Given the description of an element on the screen output the (x, y) to click on. 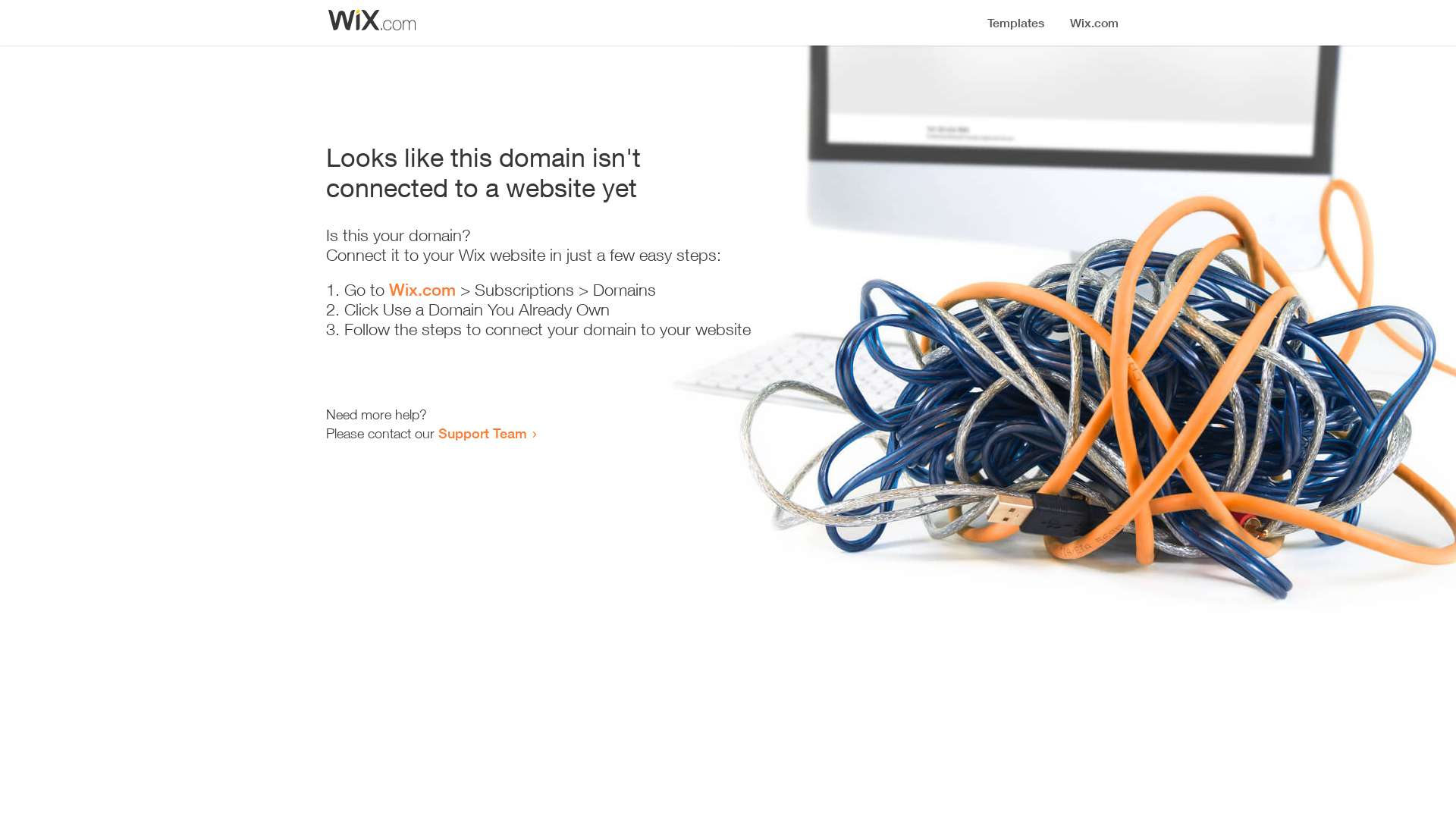
Support Team Element type: text (482, 432)
Wix.com Element type: text (422, 289)
